Given the description of an element on the screen output the (x, y) to click on. 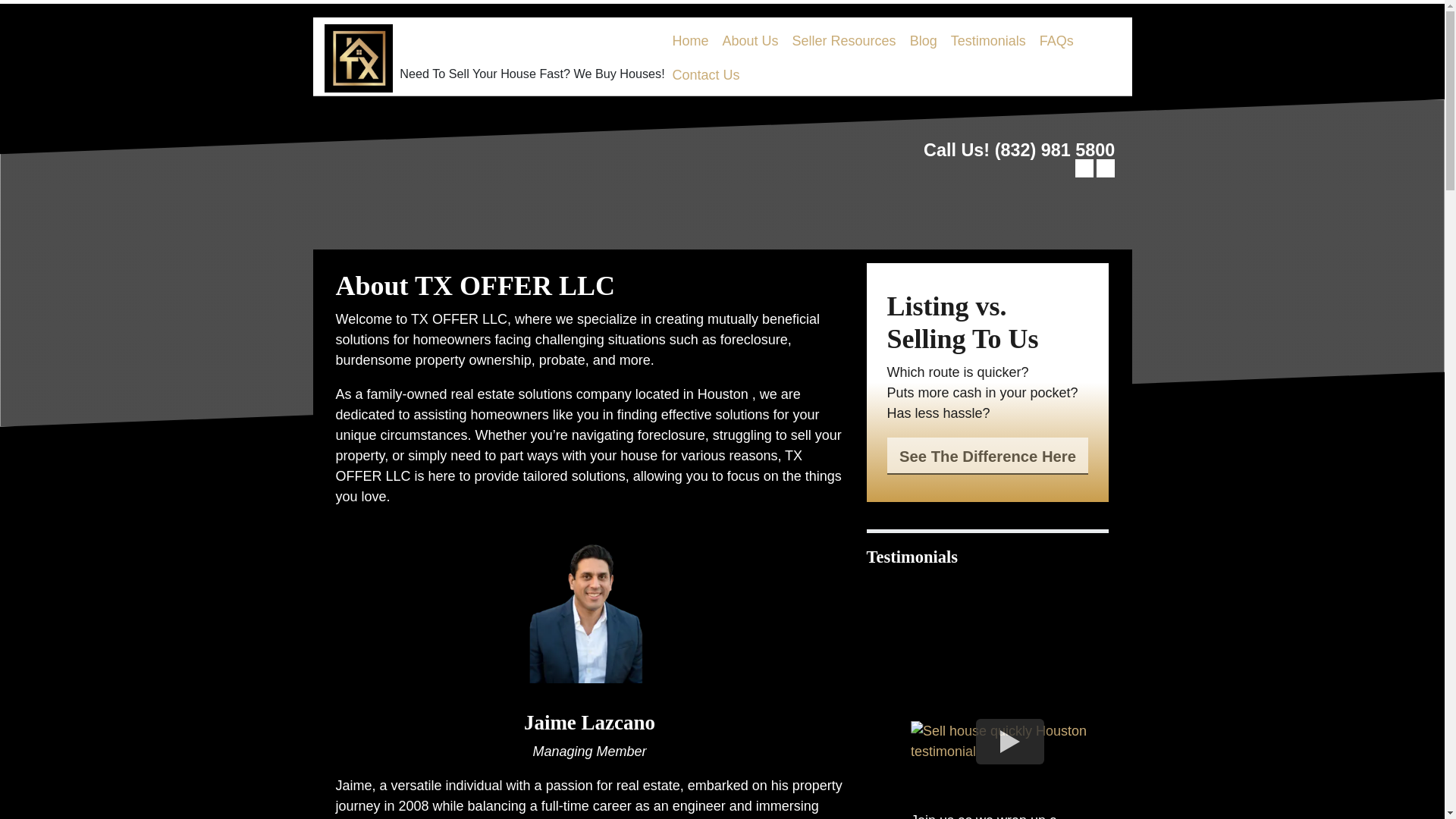
Blog (922, 41)
Home (690, 41)
About Us (751, 41)
Seller Resources (844, 41)
Facebook (1084, 167)
FAQs (1056, 41)
Contact Us (705, 75)
Home (690, 41)
FAQs (1056, 41)
